Given the description of an element on the screen output the (x, y) to click on. 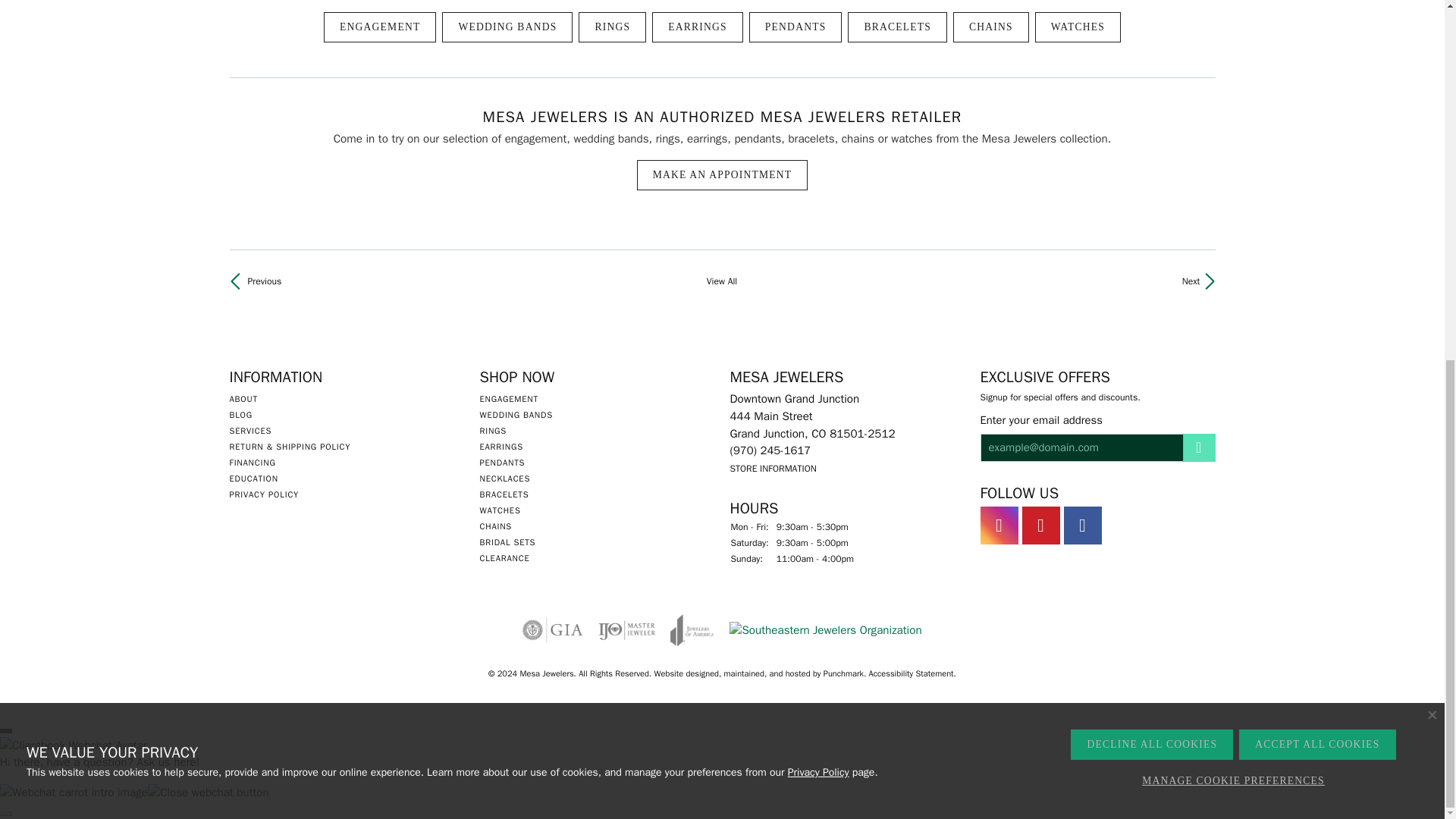
Personal Jewelry Insurance (691, 629)
Personal Jewelry Insurance (626, 629)
Makur (261, 280)
Follow us on facebook (1081, 525)
Gemological Institute of America (552, 629)
Follow us on instagram (998, 525)
Follow us on pinterest (1040, 525)
Oriental Connection (1182, 280)
Southeastern Jewelers Organization (825, 630)
Enter your email address to subscribe (1080, 447)
View All brands (722, 280)
